Given the description of an element on the screen output the (x, y) to click on. 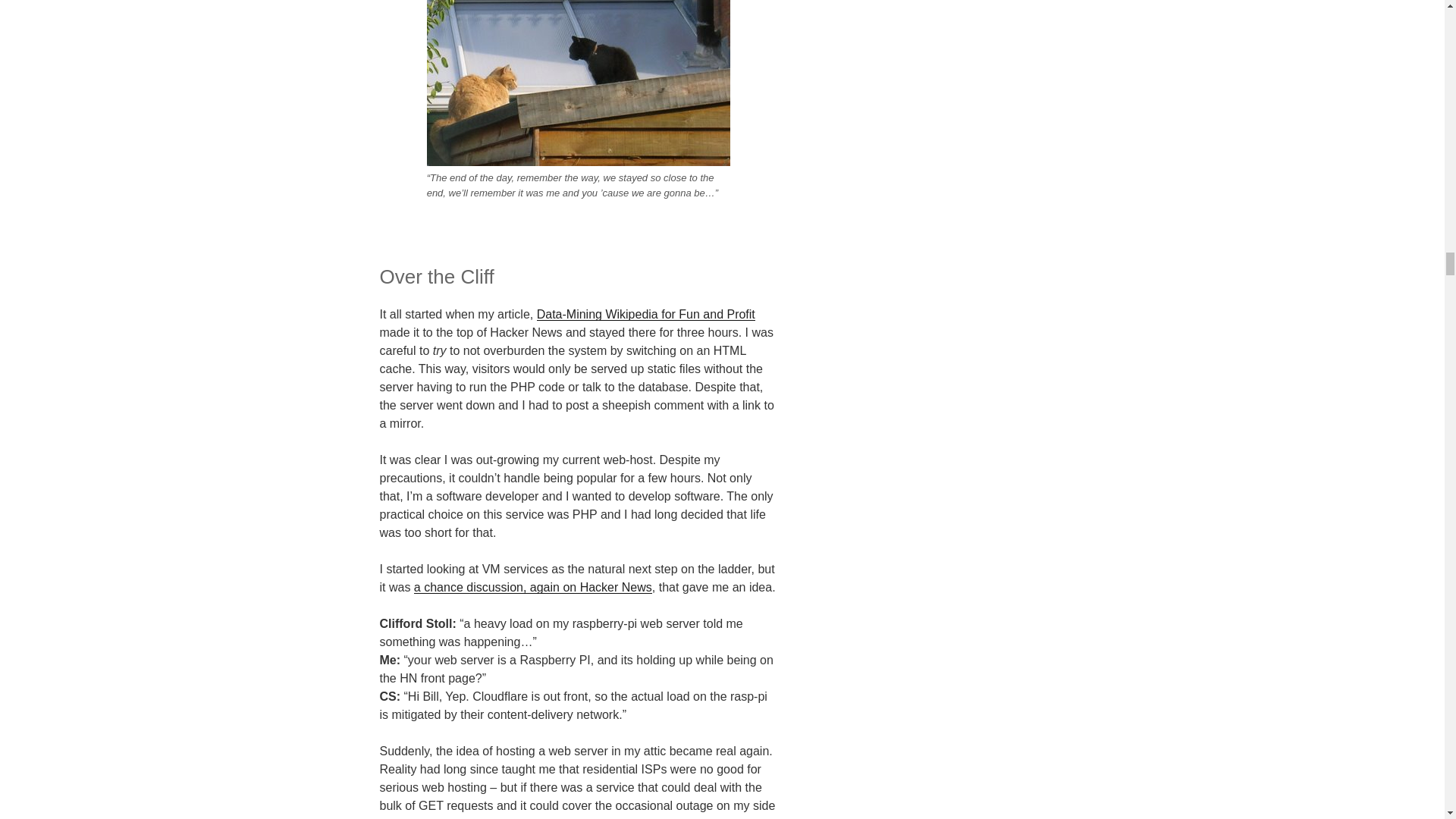
a chance discussion, again on Hacker News (532, 586)
Data-Mining Wikipedia for Fun and Profit (646, 314)
